Given the description of an element on the screen output the (x, y) to click on. 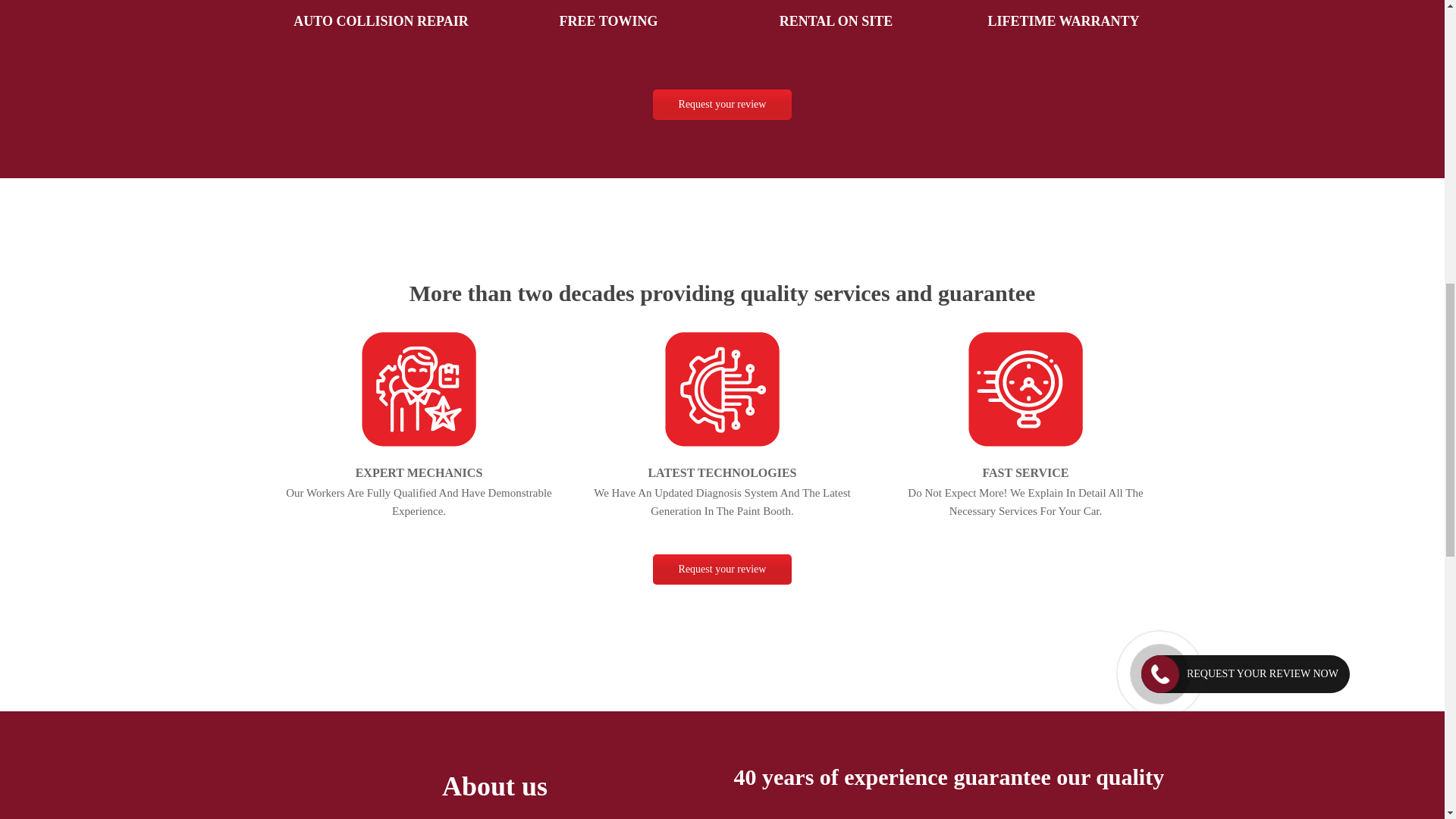
Request your review (722, 569)
LATEST TECHNOLOGIES (721, 472)
EXPERT MECHANICS (419, 472)
FAST SERVICE (1024, 472)
Contact us (722, 569)
Contact us (722, 104)
Request your review (722, 104)
